Given the description of an element on the screen output the (x, y) to click on. 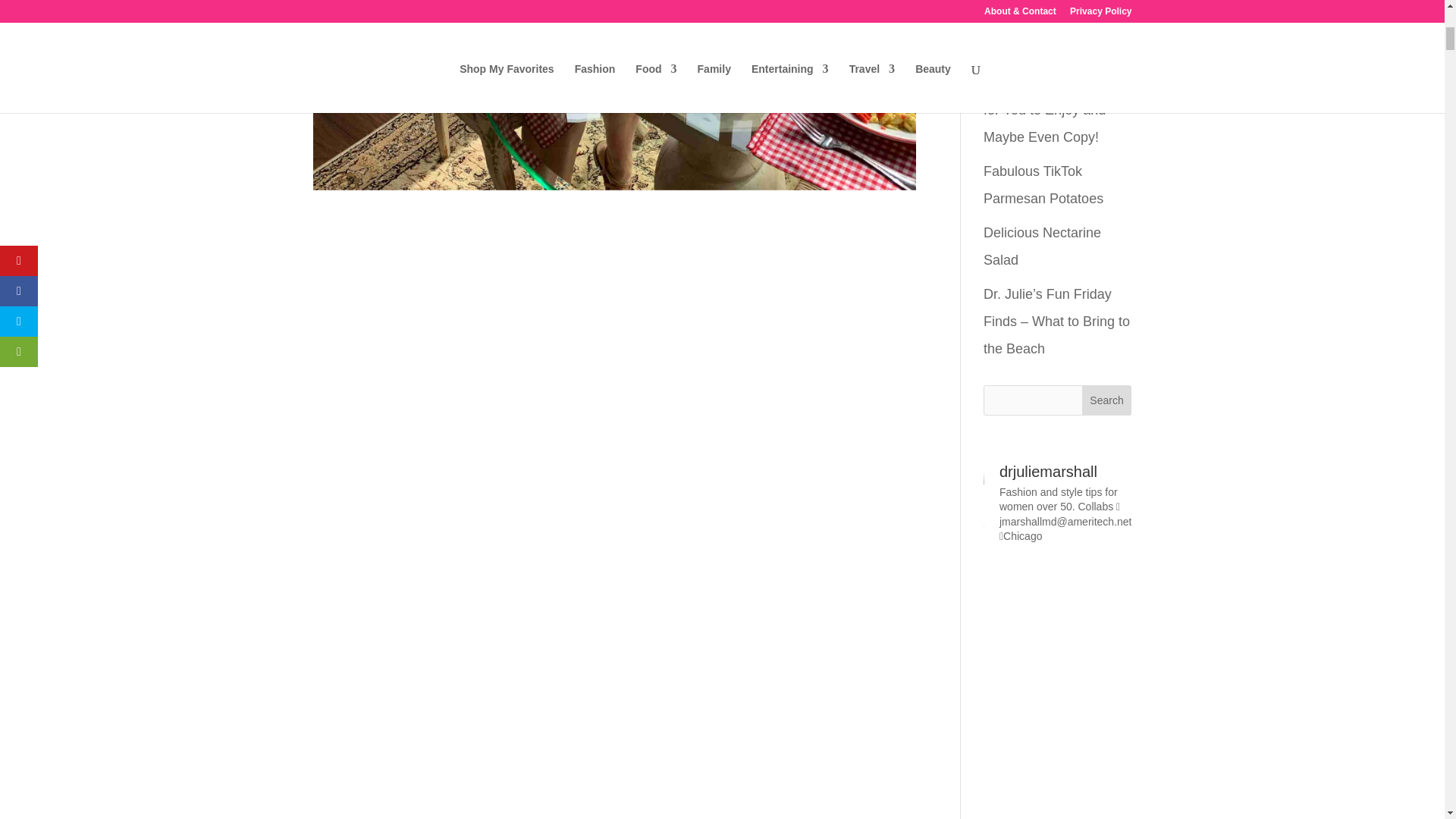
Delicious Nectarine Salad (1042, 245)
Fabulous TikTok Parmesan Potatoes (1043, 184)
Search (1106, 399)
